Given the description of an element on the screen output the (x, y) to click on. 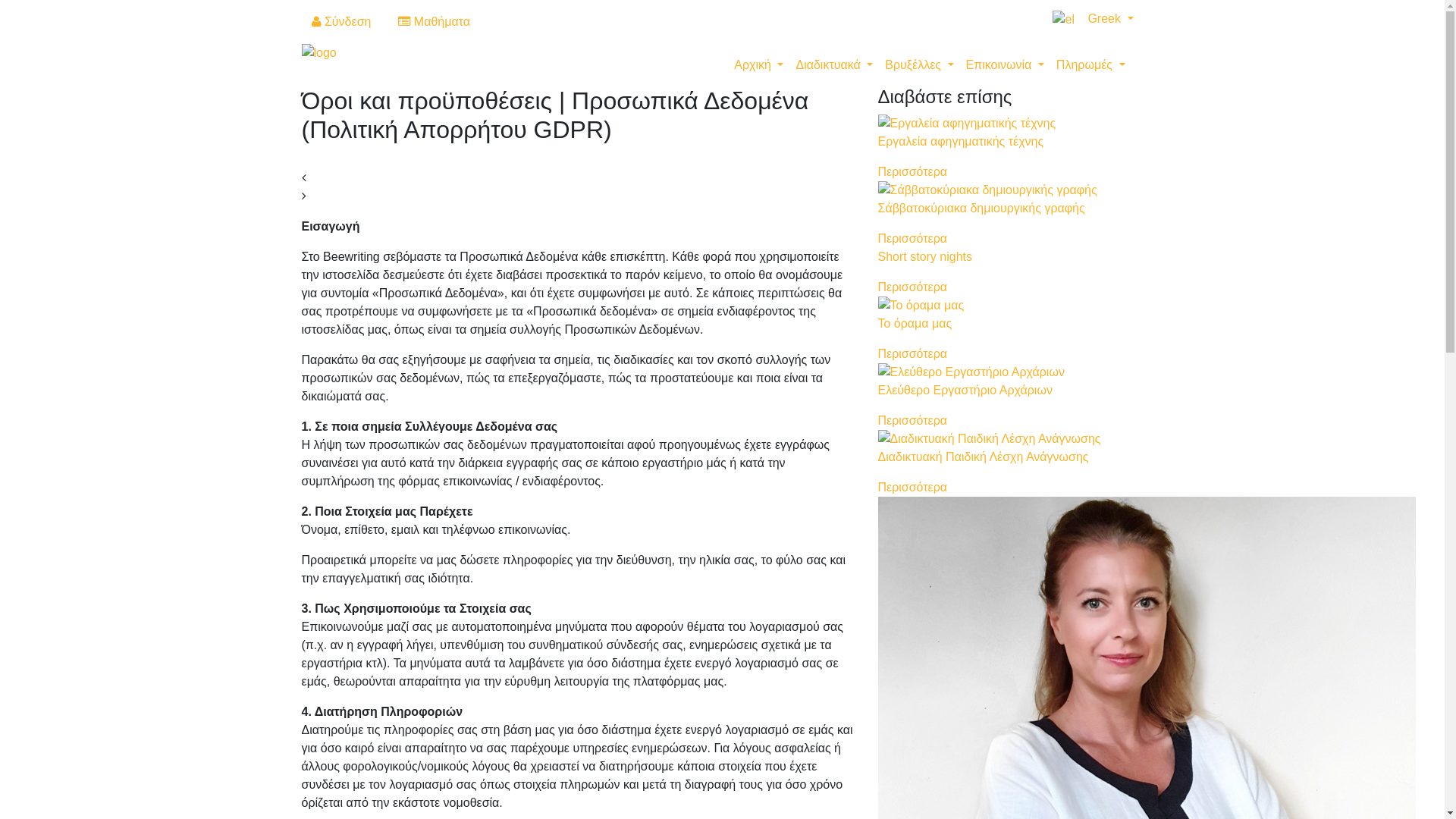
el Element type: hover (1062, 19)
Greek Element type: text (1087, 18)
Short story nights Element type: text (925, 256)
